Given the description of an element on the screen output the (x, y) to click on. 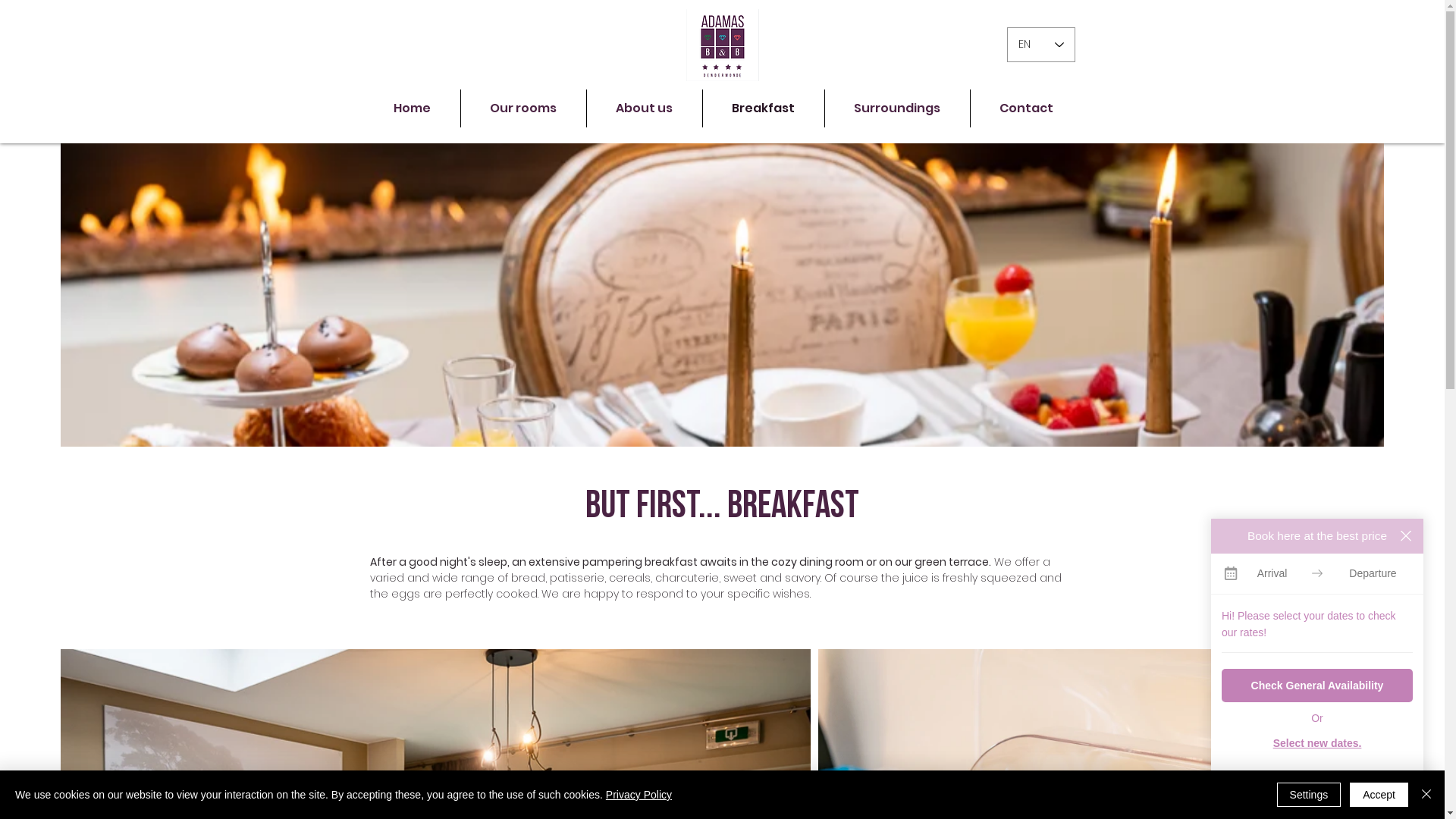
Settings Element type: text (1309, 794)
About us Element type: text (644, 108)
Contact Element type: text (1026, 108)
Breakfast Element type: text (762, 108)
Select new dates. Element type: text (1316, 743)
Our rooms Element type: text (523, 108)
Home Element type: text (411, 108)
Accept Element type: text (1378, 794)
Cubilis Element type: text (1340, 807)
Privacy Policy Element type: text (638, 794)
Surroundings Element type: text (897, 108)
Check General Availability Element type: text (1316, 685)
